Given the description of an element on the screen output the (x, y) to click on. 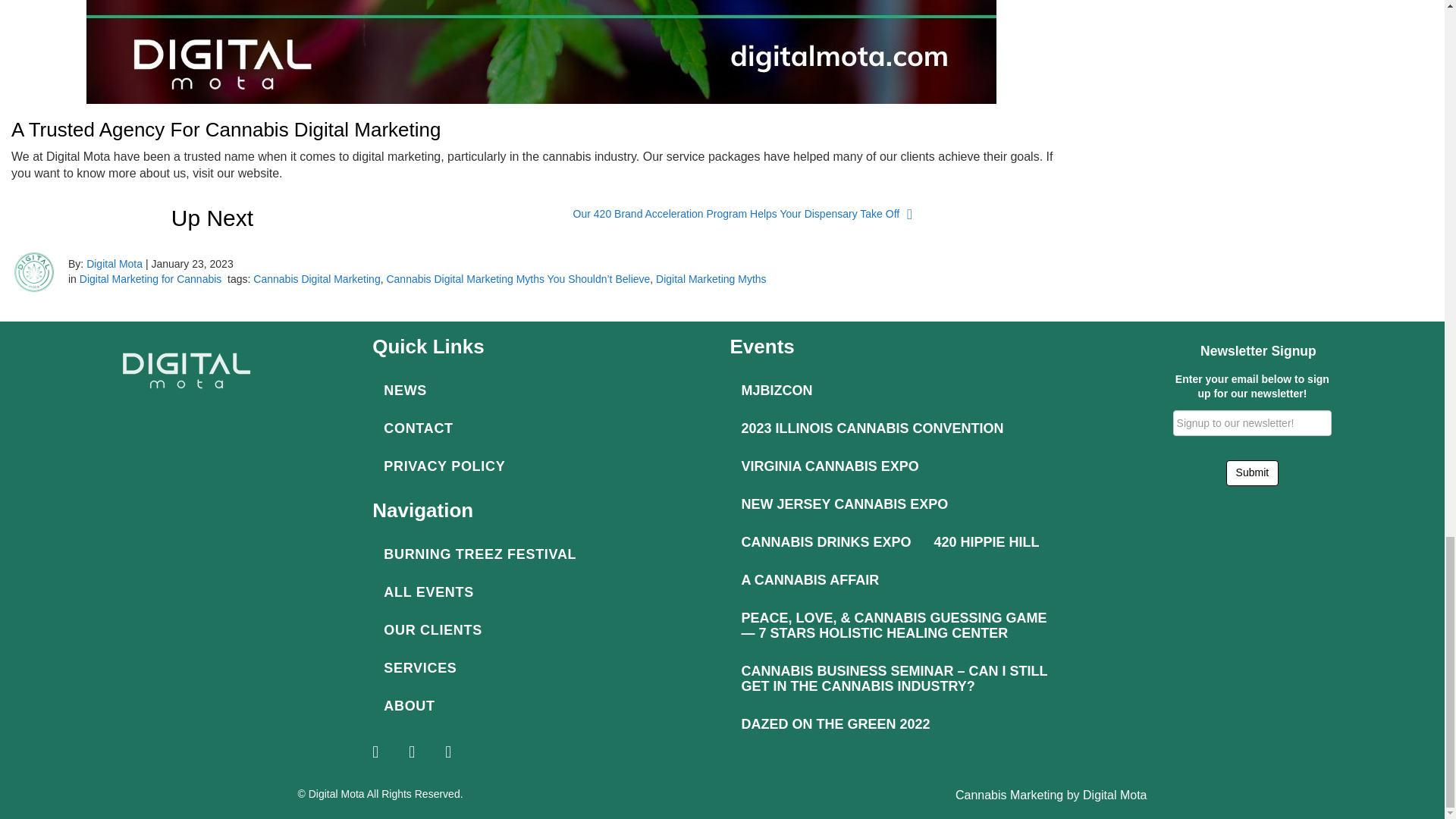
2023 ILLINOIS CANNABIS CONVENTION (871, 428)
Submit (1252, 473)
PRIVACY POLICY (543, 466)
SERVICES (543, 668)
CONTACT (543, 428)
Digital Marketing for Cannabis (151, 278)
MJBIZCON (776, 390)
Digital Marketing Myths (711, 278)
NEWS (543, 390)
OUR CLIENTS (543, 629)
Cannabis Digital Marketing (316, 278)
ALL EVENTS (543, 591)
BURNING TREEZ FESTIVAL (543, 554)
